Given the description of an element on the screen output the (x, y) to click on. 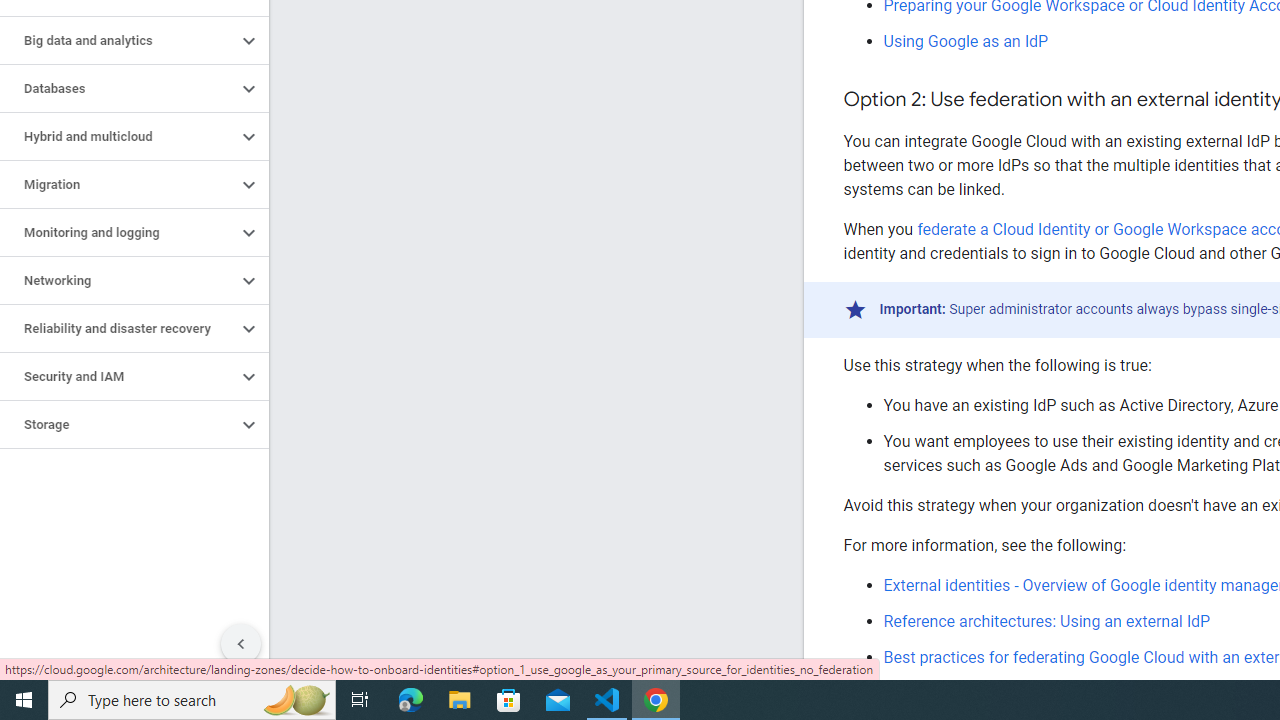
Big data and analytics (118, 40)
Networking (118, 281)
Using Google as an IdP (966, 41)
Migration (118, 184)
Storage (118, 425)
Hybrid and multicloud (118, 137)
Reliability and disaster recovery (118, 328)
Databases (118, 88)
Hide side navigation (241, 643)
Reference architectures: Using an external IdP (1046, 621)
Security and IAM (118, 376)
Monitoring and logging (118, 232)
